Given the description of an element on the screen output the (x, y) to click on. 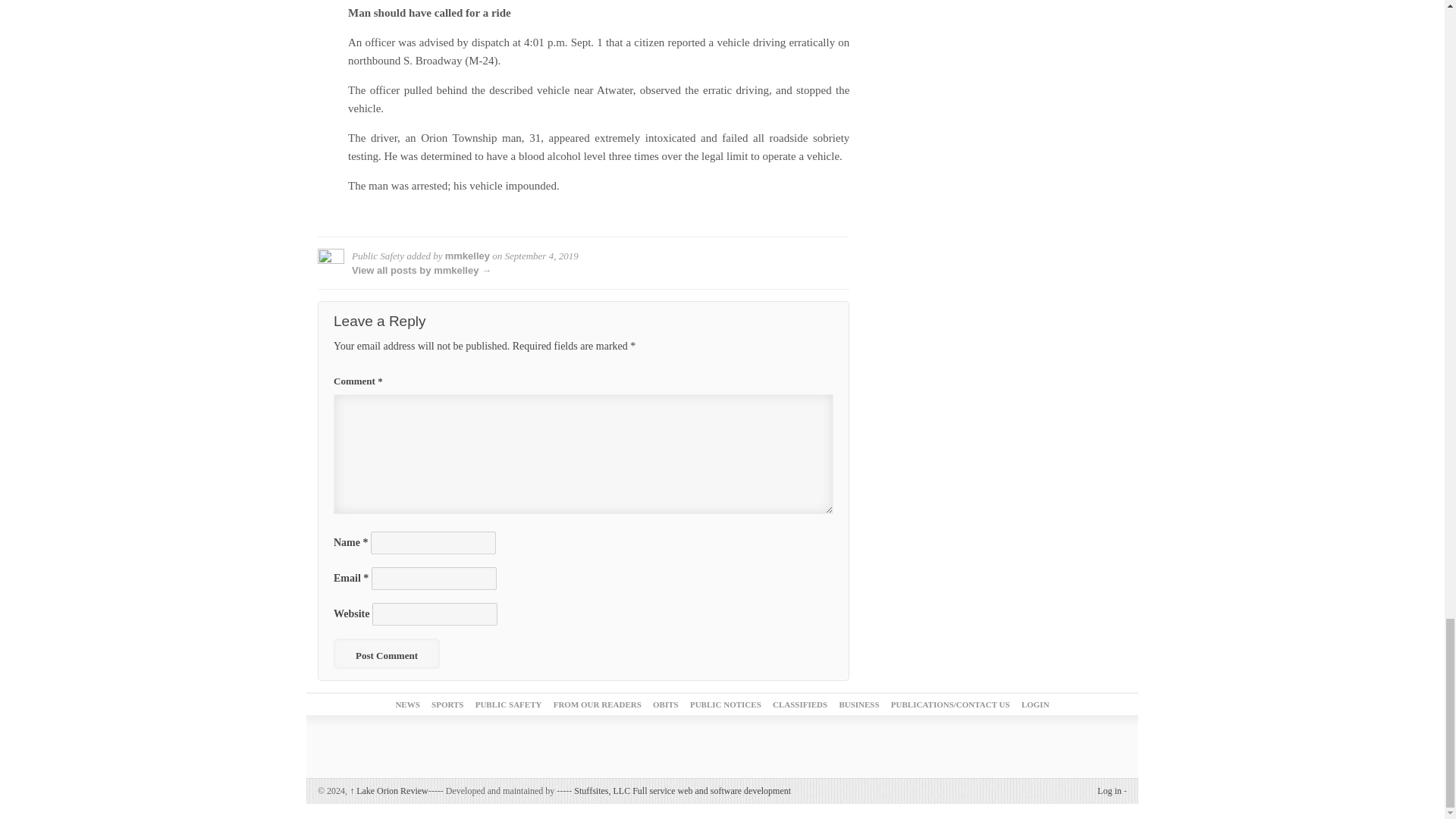
Post Comment (386, 653)
